Given the description of an element on the screen output the (x, y) to click on. 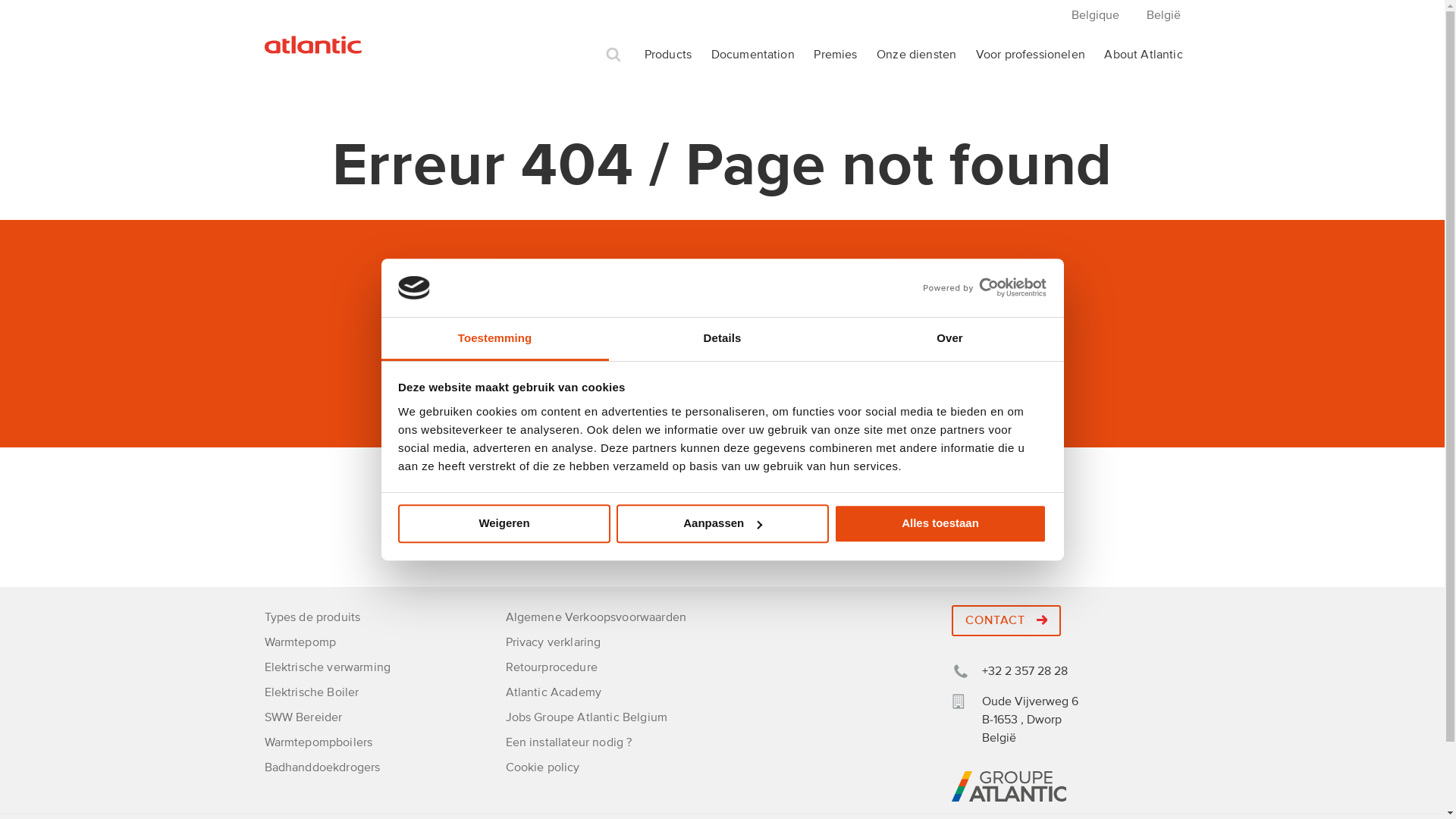
Products Element type: text (667, 55)
Cookie policy Element type: text (542, 767)
Algemene Verkoopsvoorwaarden Element type: text (595, 616)
Jobs Groupe Atlantic Belgium Element type: text (585, 716)
Types de produits Element type: text (311, 616)
Badhanddoekdrogers Element type: text (321, 767)
Details Element type: text (721, 338)
+32 2 357 28 28 Element type: text (1008, 670)
Voor professionelen Element type: text (1030, 55)
Privacy verklaring Element type: text (552, 641)
Atlantic Academy Element type: text (553, 691)
Warmtepomp Element type: text (299, 641)
Warmtepompboilers Element type: text (317, 741)
Weigeren Element type: text (504, 523)
Elektrische verwarming Element type: text (326, 666)
Over Element type: text (949, 338)
Een installateur nodig ? Element type: text (568, 741)
Alles toestaan Element type: text (940, 523)
SWW Bereider Element type: text (302, 716)
Belgique Element type: text (1094, 14)
Elektrische Boiler Element type: text (310, 691)
Search Element type: text (613, 54)
Aanpassen Element type: text (721, 523)
CONTACT Element type: text (1005, 620)
Retourprocedure Element type: text (550, 666)
Documentation Element type: text (752, 55)
Onze diensten Element type: text (916, 55)
Toestemming Element type: text (494, 338)
Premies Element type: text (835, 55)
About Atlantic Element type: text (1143, 55)
